Given the description of an element on the screen output the (x, y) to click on. 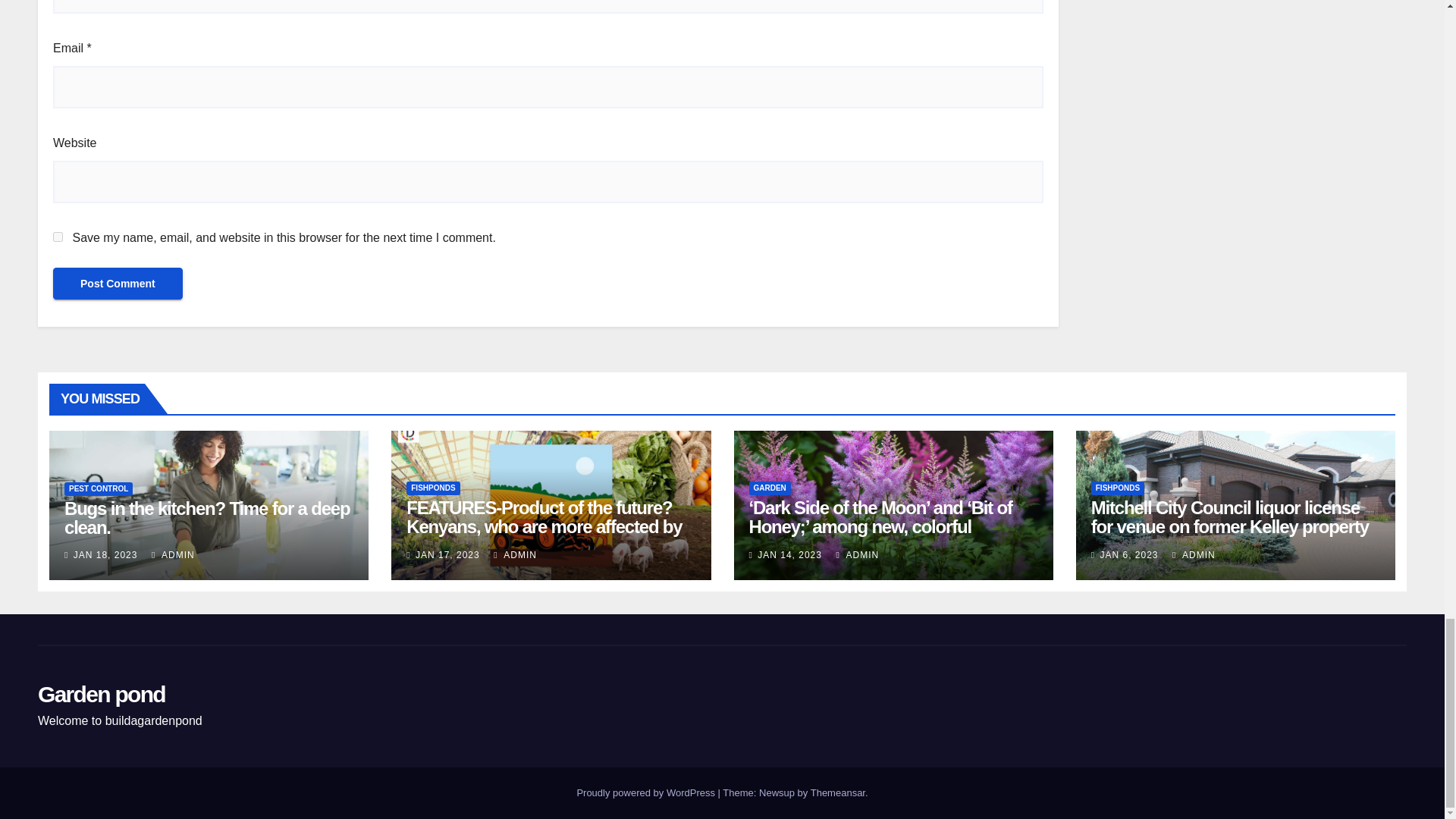
yes (57, 236)
Post Comment (117, 283)
Permalink to: Bugs in the kitchen?  Time for a deep clean. (206, 517)
Post Comment (117, 283)
